Given the description of an element on the screen output the (x, y) to click on. 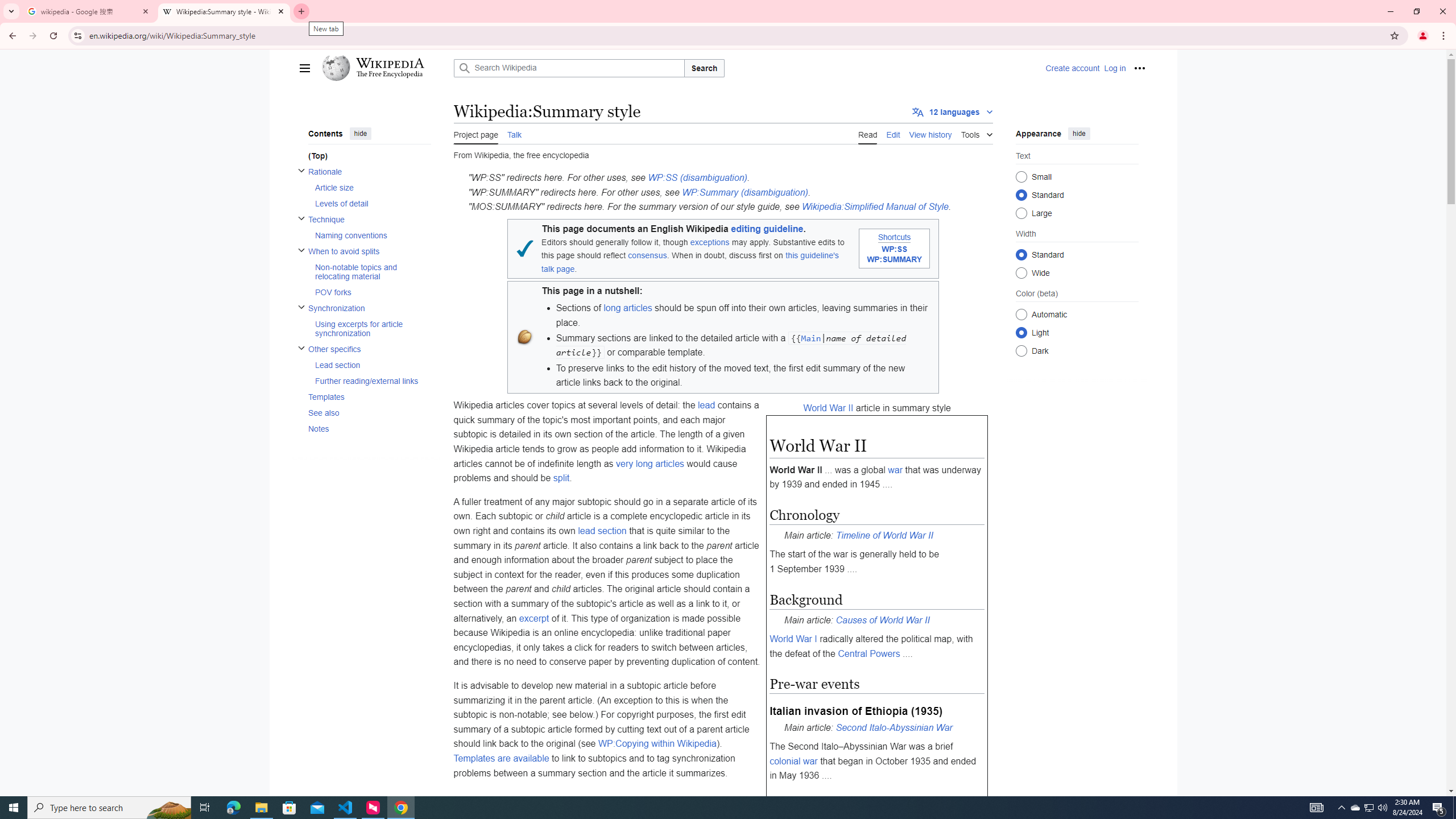
Small (1020, 176)
AutomationID: ca-talk (514, 133)
AutomationID: toc-Naming_conventions (368, 234)
colonial war (794, 760)
World War II (828, 407)
Templates are available (500, 757)
Naming conventions (372, 234)
Blue tick (523, 248)
AutomationID: toc-Article_size (368, 187)
AutomationID: toc-Lead_section (368, 364)
Toggle Other specifics subsection (300, 347)
Log in (1114, 67)
Search Wikipedia (568, 67)
Talk (514, 133)
